Given the description of an element on the screen output the (x, y) to click on. 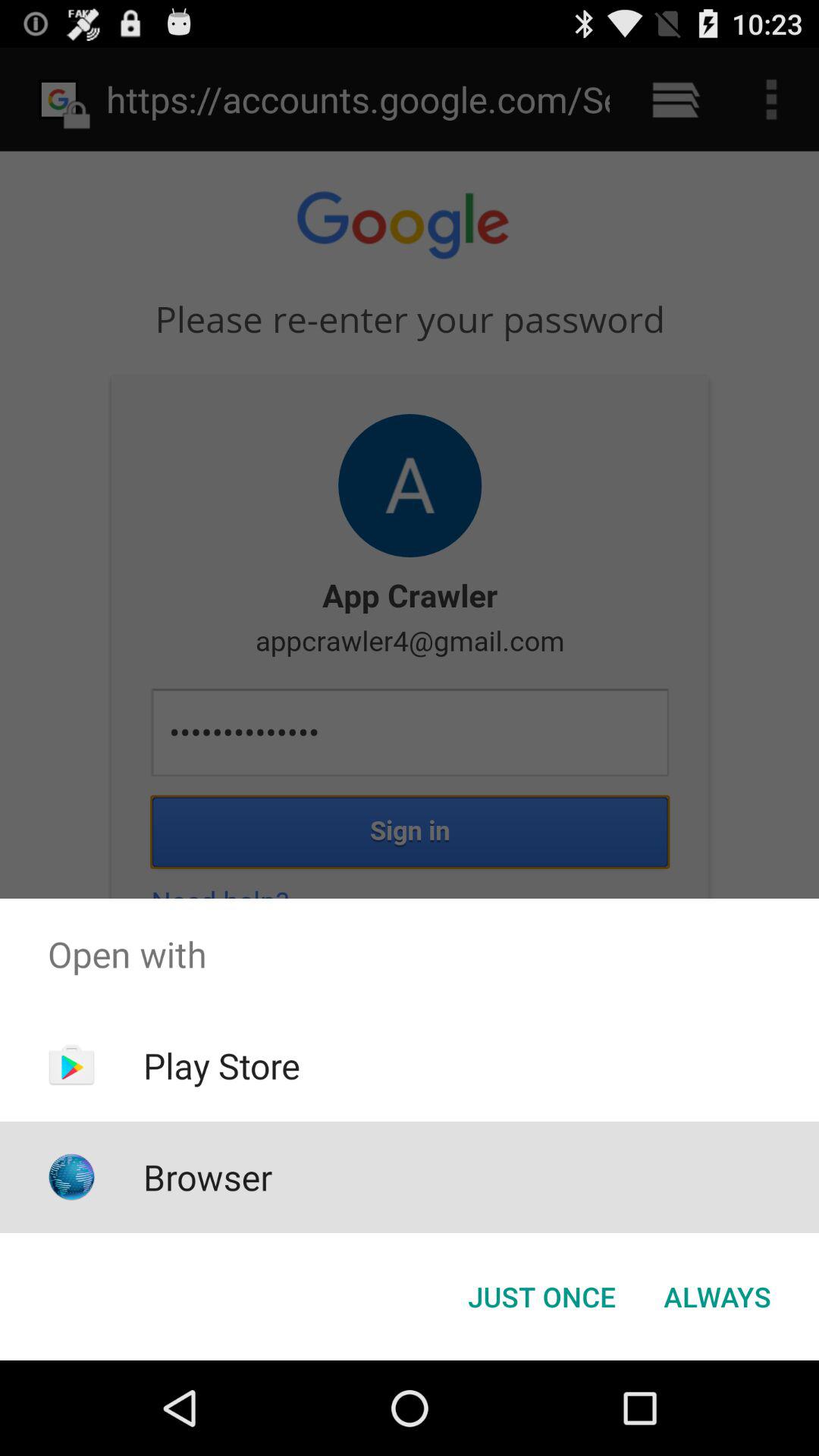
scroll until play store item (221, 1065)
